Given the description of an element on the screen output the (x, y) to click on. 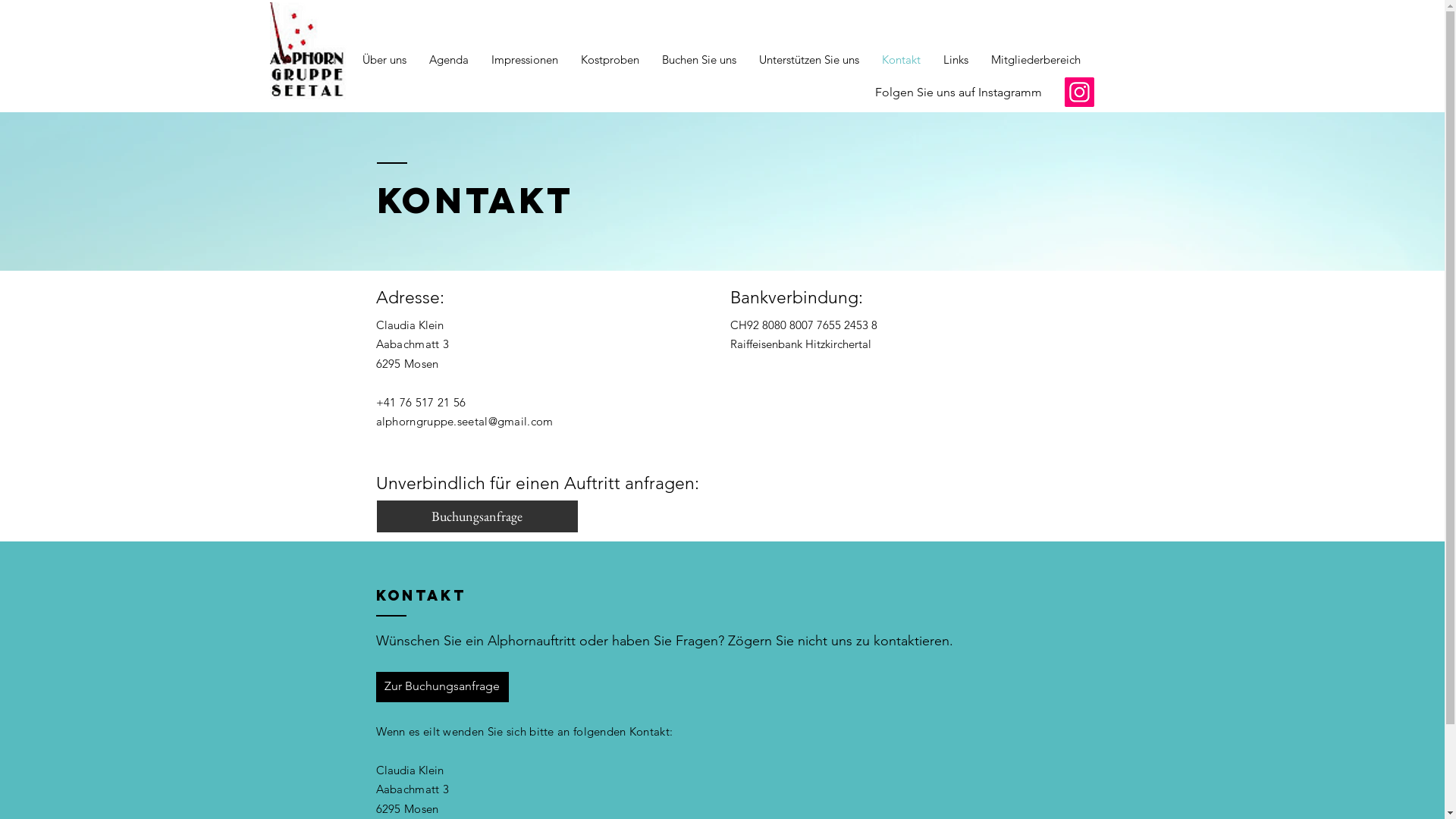
Impressionen Element type: text (523, 59)
Mitgliederbereich Element type: text (1035, 59)
Links Element type: text (955, 59)
Agenda Element type: text (448, 59)
Zur Buchungsanfrage Element type: text (442, 686)
Alphorngruppe seetal Element type: text (881, 5)
Buchen Sie uns Element type: text (698, 59)
Buchungsanfrage Element type: text (476, 516)
Kontakt Element type: text (900, 59)
Kostproben Element type: text (608, 59)
